Given the description of an element on the screen output the (x, y) to click on. 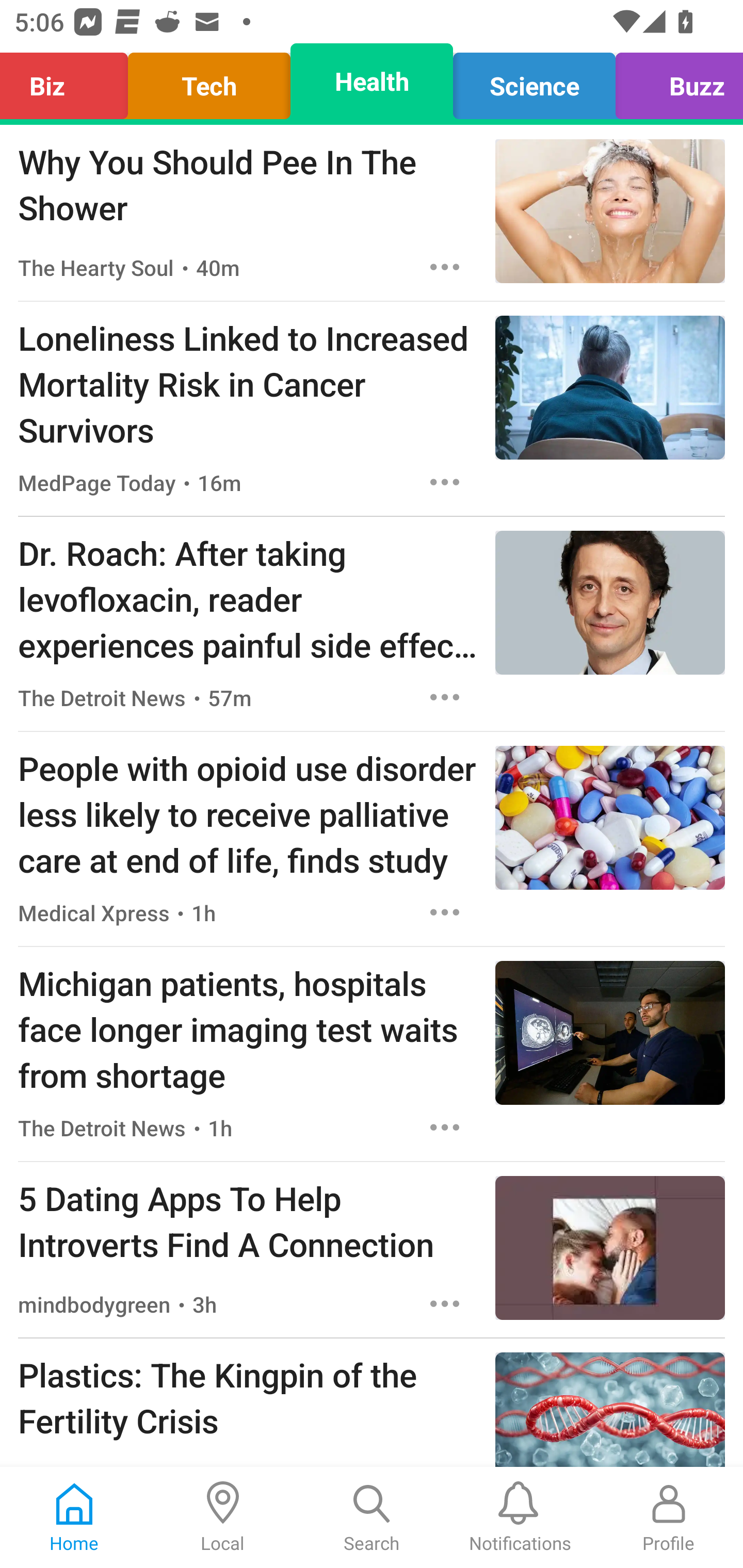
Biz (69, 81)
Tech (209, 81)
Health (371, 81)
Science (534, 81)
Buzz (673, 81)
Options (444, 267)
Options (444, 481)
Options (444, 697)
Options (444, 912)
Options (444, 1127)
Options (444, 1303)
Local (222, 1517)
Search (371, 1517)
Notifications (519, 1517)
Profile (668, 1517)
